Given the description of an element on the screen output the (x, y) to click on. 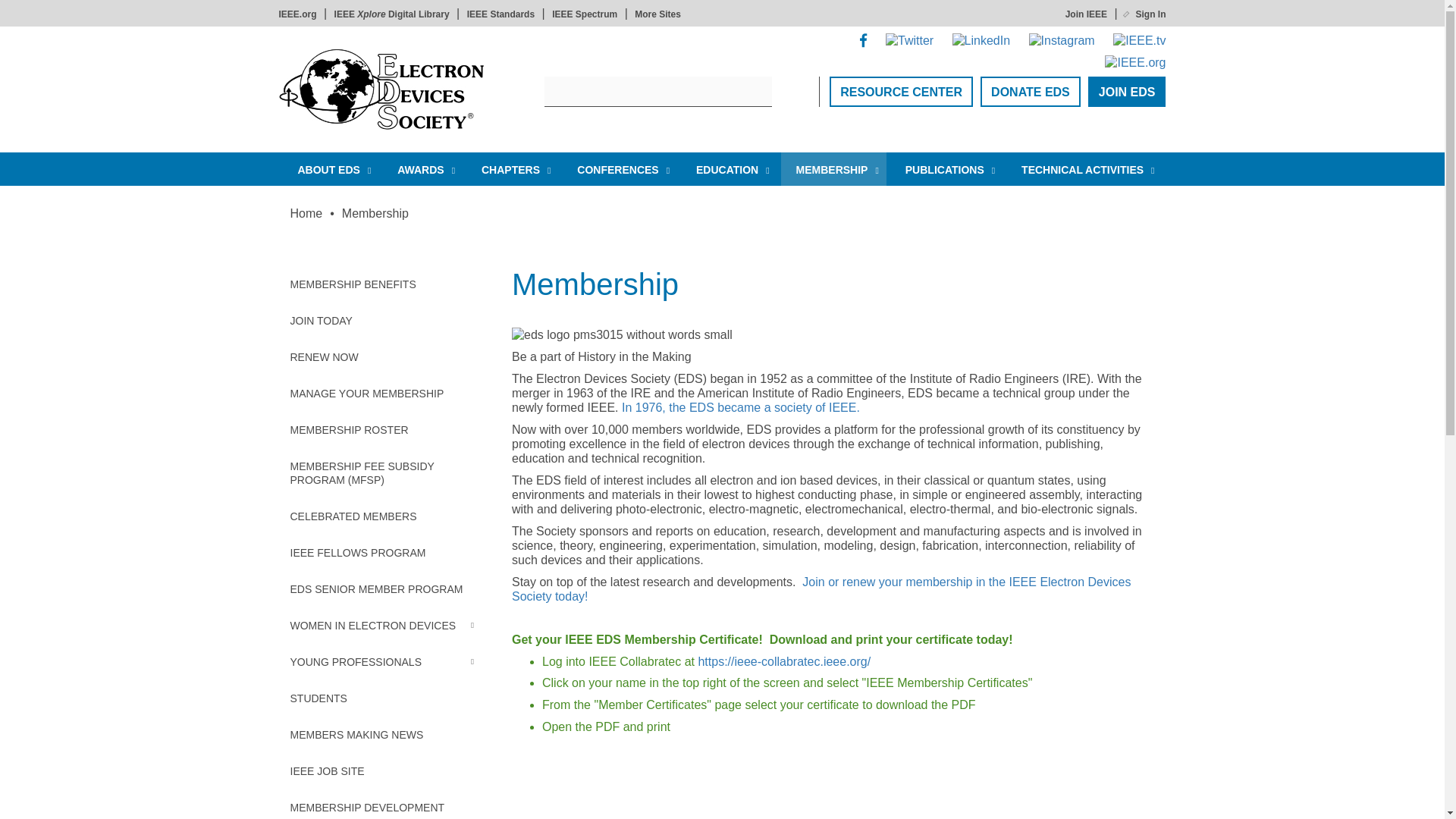
Join IEEE (1085, 14)
Sign In (1145, 14)
IEEE Spectrum (584, 14)
Visit IEEE EDS on Twitter (909, 39)
Search (786, 91)
More IEEE Sites (657, 14)
RESOURCE CENTER (900, 91)
IEEE Xplore Digital Library (391, 14)
Visit IEEE EDS on LinkedIn (981, 39)
More Sites (657, 14)
